Given the description of an element on the screen output the (x, y) to click on. 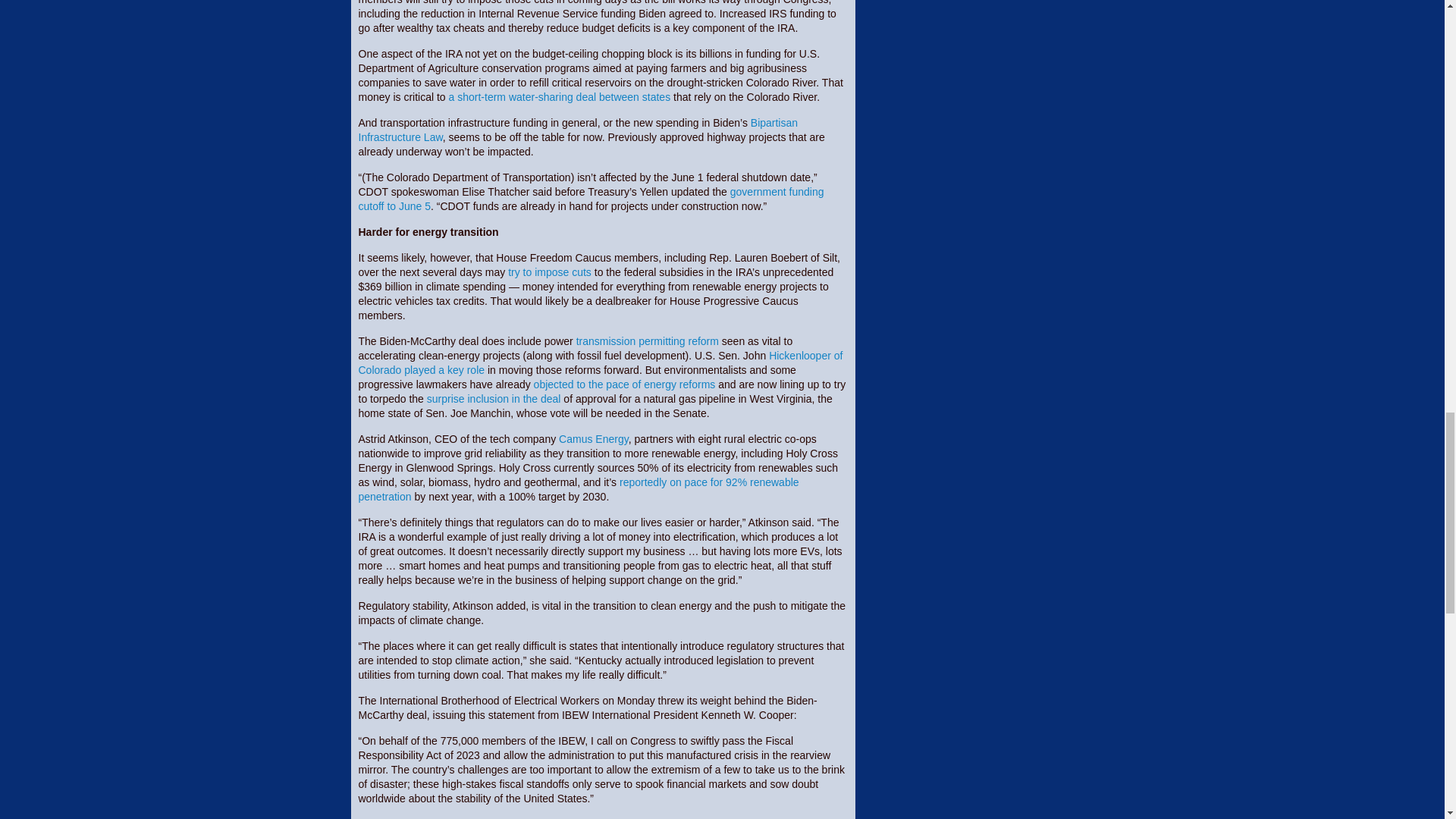
try to impose cuts (549, 272)
transmission permitting reform (647, 340)
Bipartisan Infrastructure Law (577, 130)
government funding cutoff to June 5 (591, 198)
objected to the pace of energy reforms (625, 384)
Camus Energy (593, 439)
surprise inclusion in the deal (493, 398)
Hickenlooper of Colorado played a key role (600, 362)
a short-term water-sharing deal between states (559, 96)
